Given the description of an element on the screen output the (x, y) to click on. 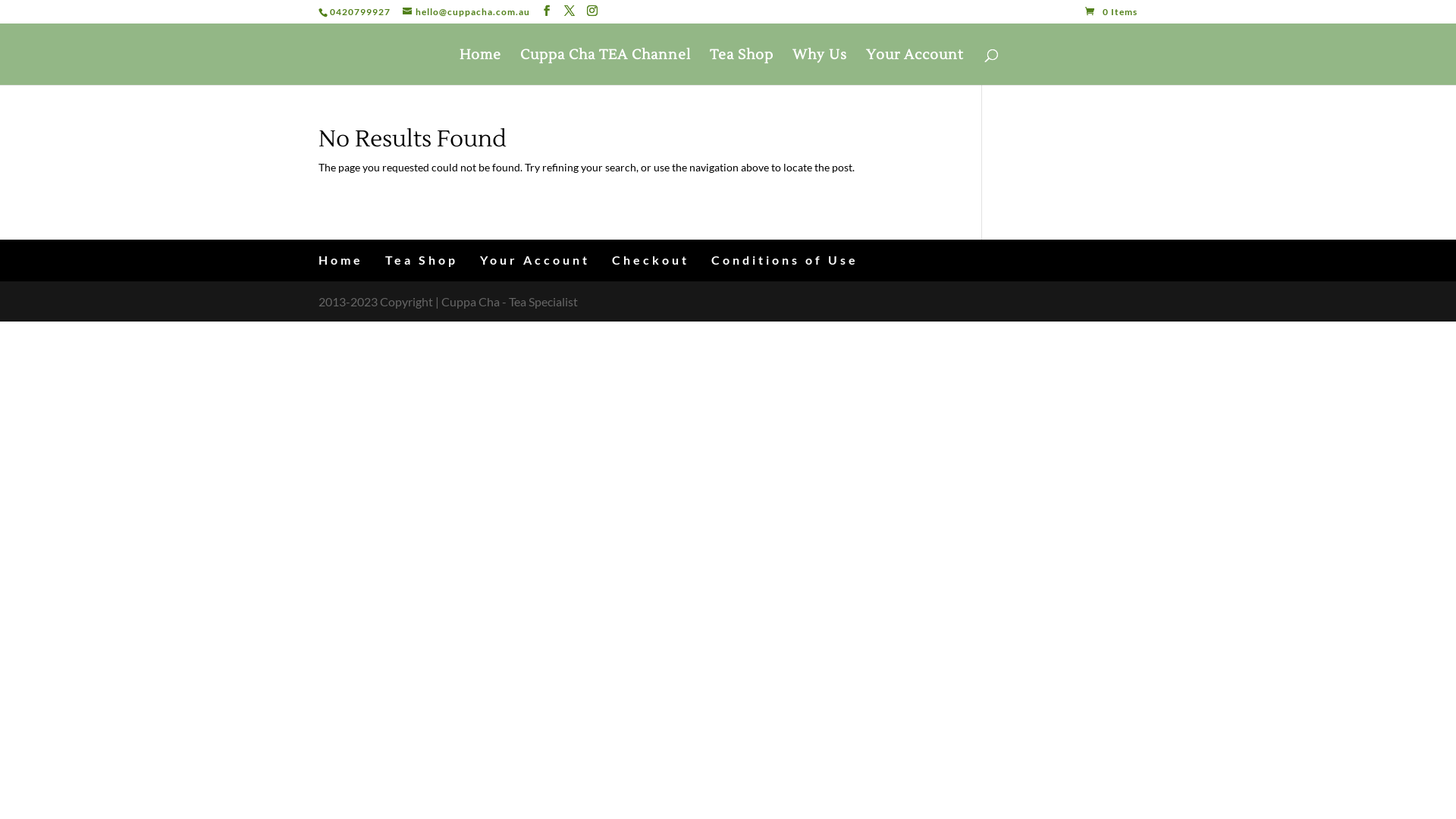
Cuppa Cha TEA Channel Element type: text (605, 67)
Checkout Element type: text (650, 259)
hello@cuppacha.com.au Element type: text (466, 11)
Why Us Element type: text (819, 67)
Your Account Element type: text (534, 259)
Home Element type: text (340, 259)
Tea Shop Element type: text (741, 67)
Tea Shop Element type: text (421, 259)
Your Account Element type: text (914, 67)
Conditions of Use Element type: text (784, 259)
Home Element type: text (480, 67)
0 Items Element type: text (1111, 11)
